Given the description of an element on the screen output the (x, y) to click on. 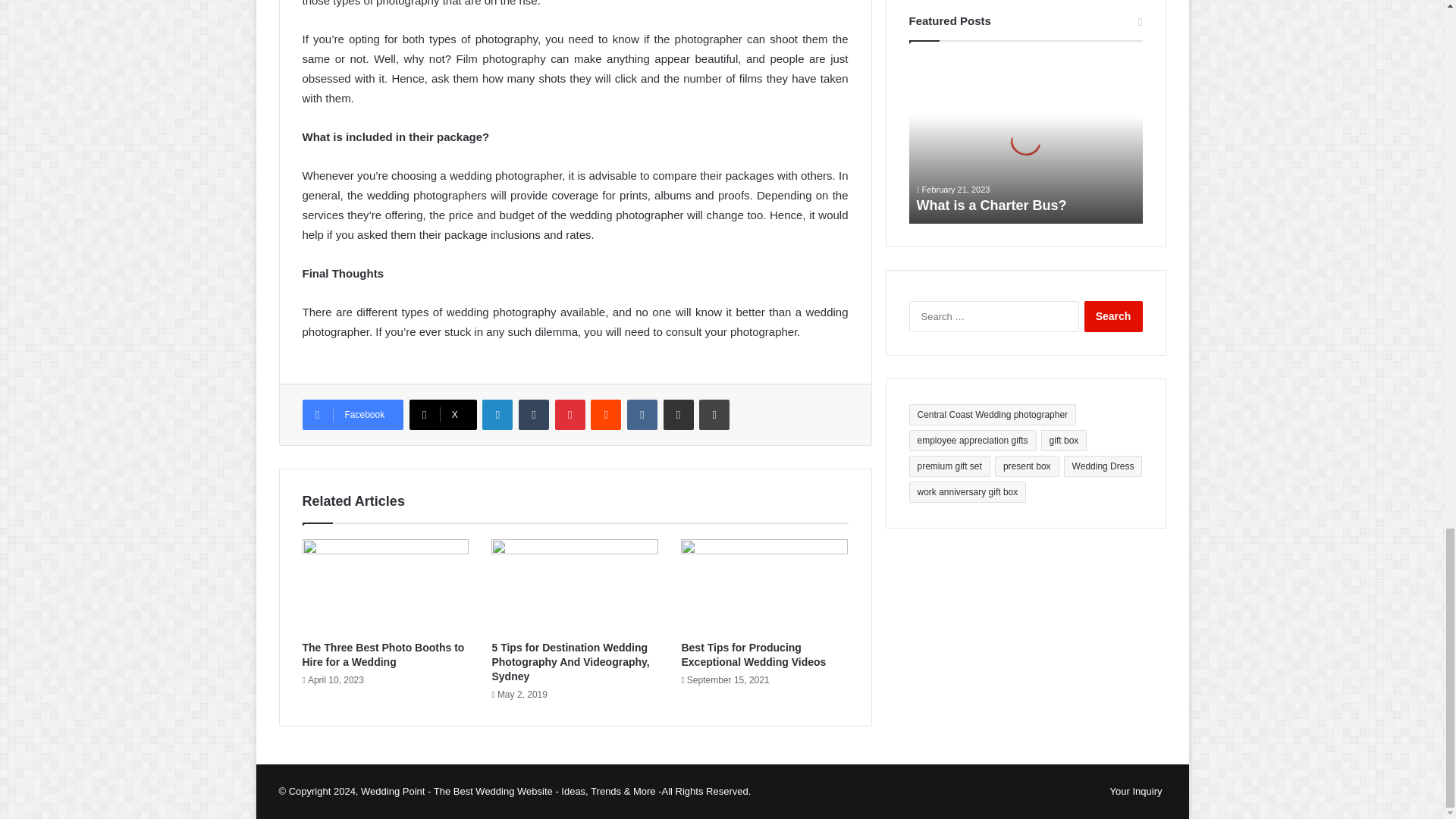
Reddit (606, 414)
LinkedIn (496, 414)
X (443, 414)
Pinterest (569, 414)
Tumblr (533, 414)
Print (713, 414)
VKontakte (642, 414)
Facebook (352, 414)
Tumblr (533, 414)
Search (1113, 316)
